Given the description of an element on the screen output the (x, y) to click on. 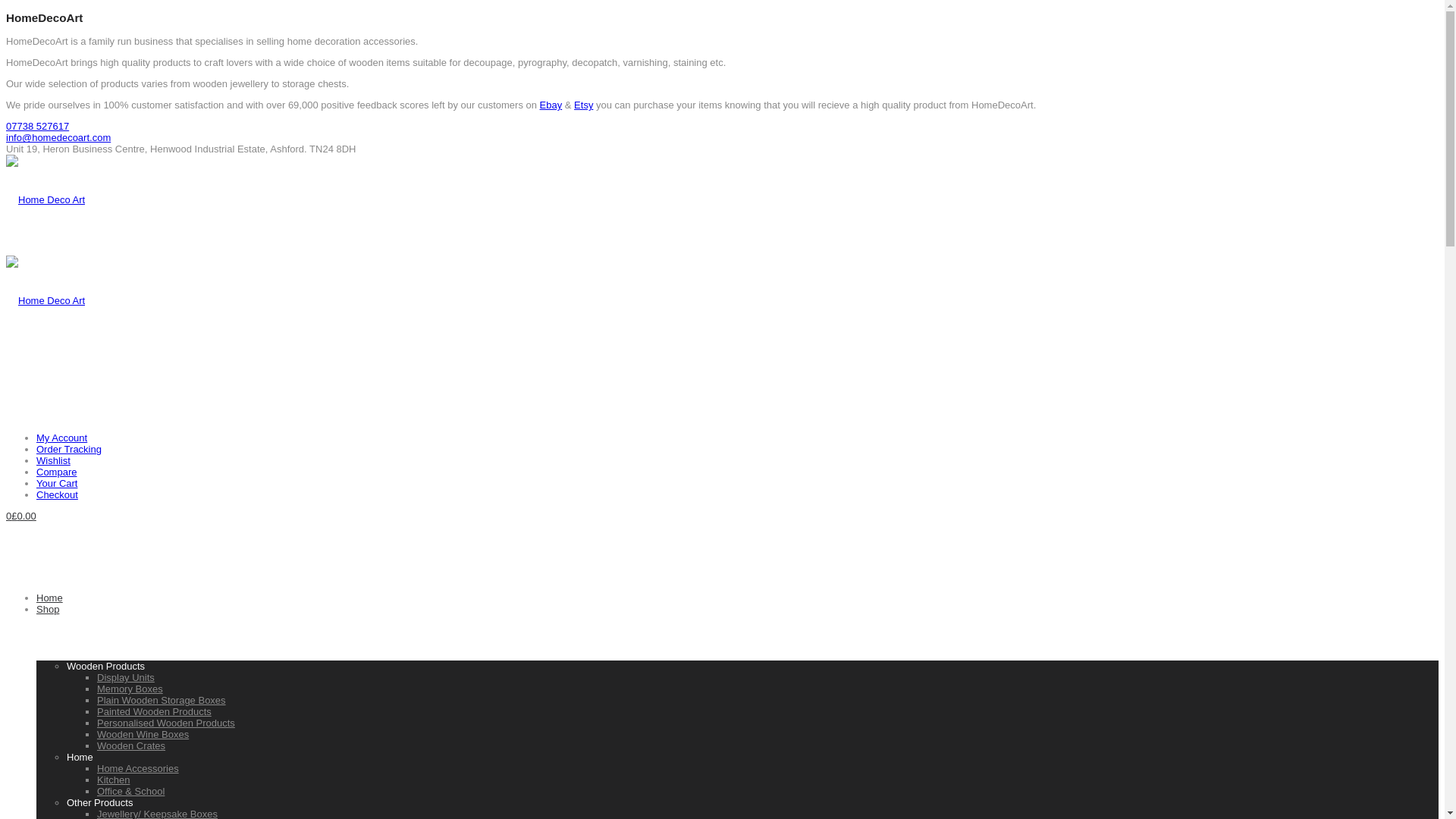
Home (49, 597)
Plain Wooden Storage Boxes (161, 699)
Your Cart (56, 482)
Display Units (125, 677)
Personalised Wooden Products (165, 722)
Ebay (551, 104)
07738 527617 (36, 125)
Etsy (582, 104)
Wishlist (52, 460)
Wooden Crates (131, 745)
Other Products (99, 802)
Memory Boxes (130, 688)
Home Accessories (138, 767)
Painted Wooden Products (154, 711)
Order Tracking (68, 449)
